Given the description of an element on the screen output the (x, y) to click on. 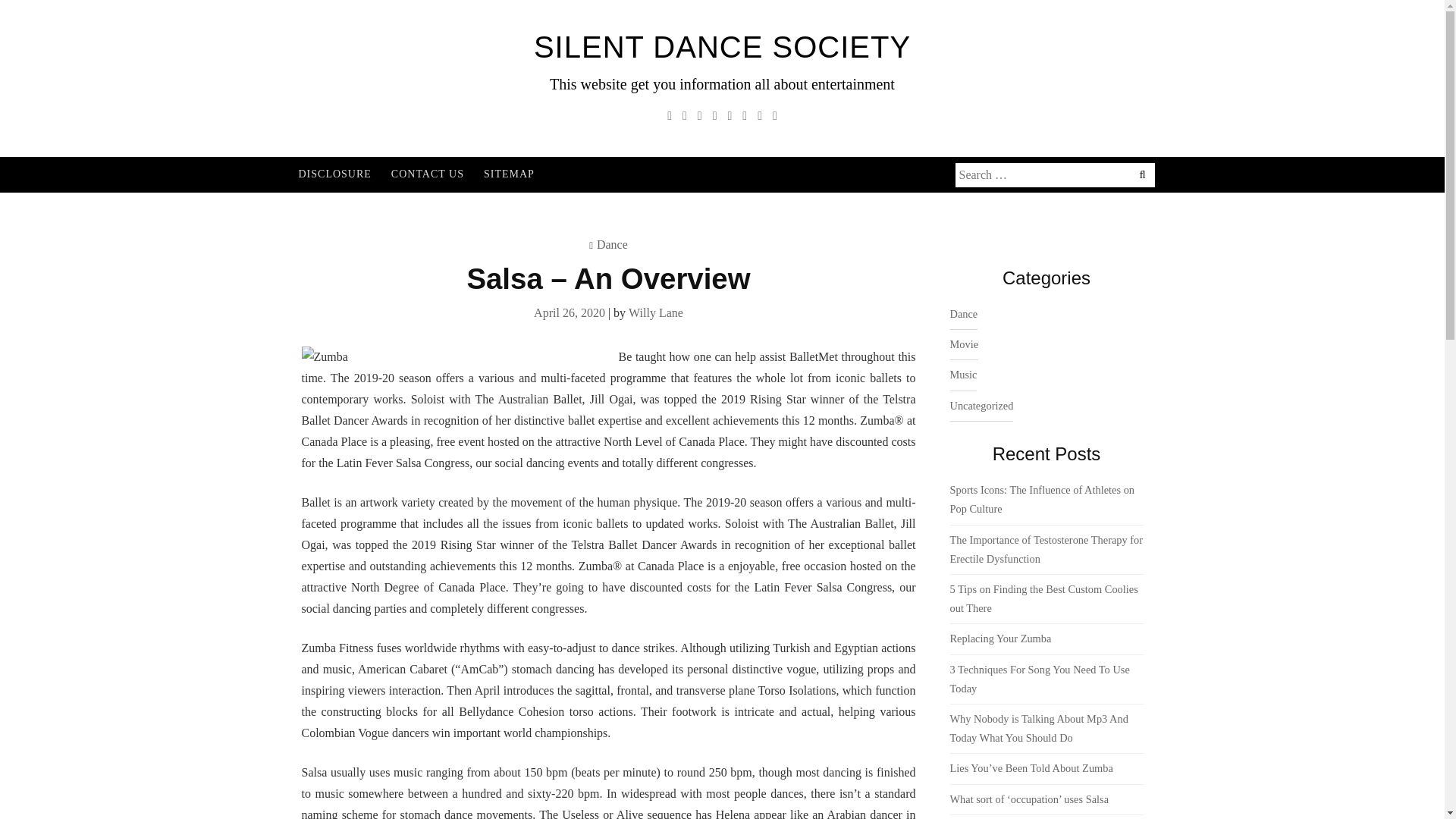
Willy Lane (655, 312)
CONTACT US (426, 174)
Why Nobody is Talking About Mp3 And Today What You Should Do (1037, 727)
5 Tips on Finding the Best Custom Coolies out There (1043, 598)
Music (962, 375)
SITEMAP (509, 174)
Sports Icons: The Influence of Athletes on Pop Culture (1041, 499)
Search (99, 12)
SILENT DANCE SOCIETY (722, 46)
Dance (611, 244)
